Given the description of an element on the screen output the (x, y) to click on. 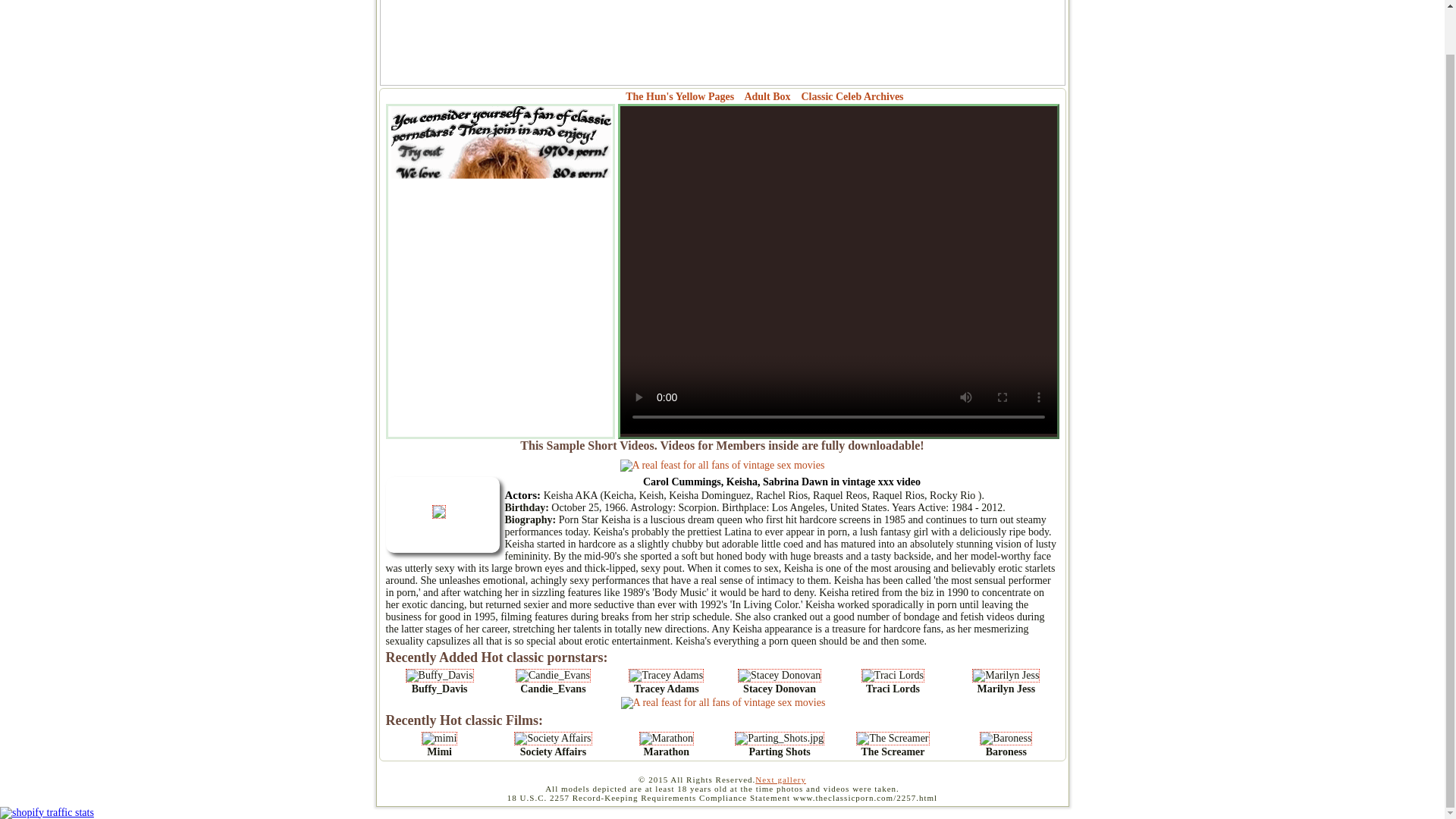
shopify traffic stats (47, 812)
The Hun's Yellow Pages (679, 96)
Classic Celeb Archives (851, 96)
Adult Box (767, 96)
Next gallery (780, 778)
